Given the description of an element on the screen output the (x, y) to click on. 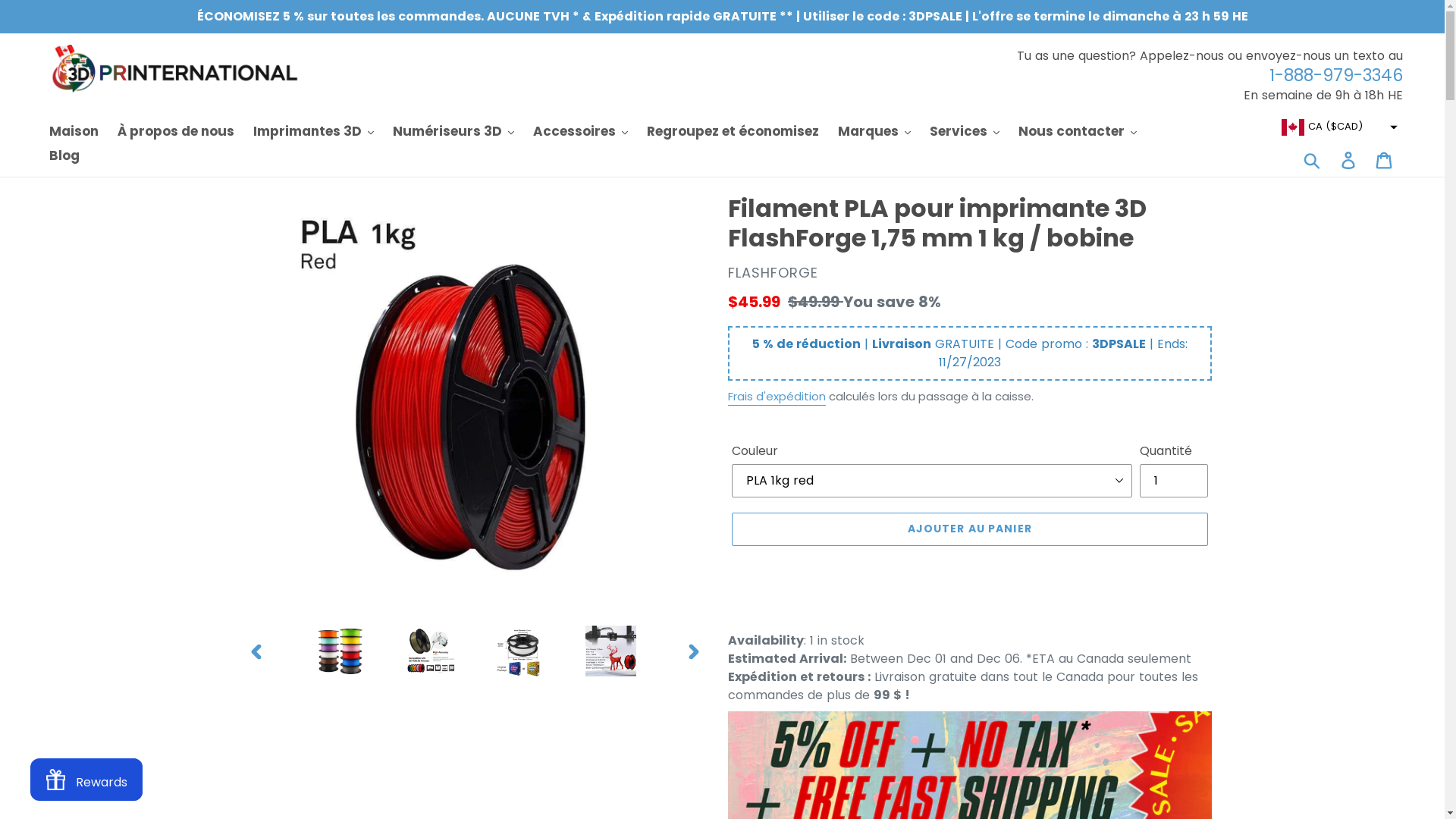
Maison Element type: text (73, 131)
Connexion Element type: text (1349, 159)
Blog Element type: text (64, 156)
AJOUTER AU PANIER Element type: text (969, 528)
Chariot Element type: text (1384, 159)
DIAPOSITIVE SUIVANTE Element type: text (693, 650)
Rewards Element type: text (86, 779)
Soumettre Element type: text (1312, 159)
